Given the description of an element on the screen output the (x, y) to click on. 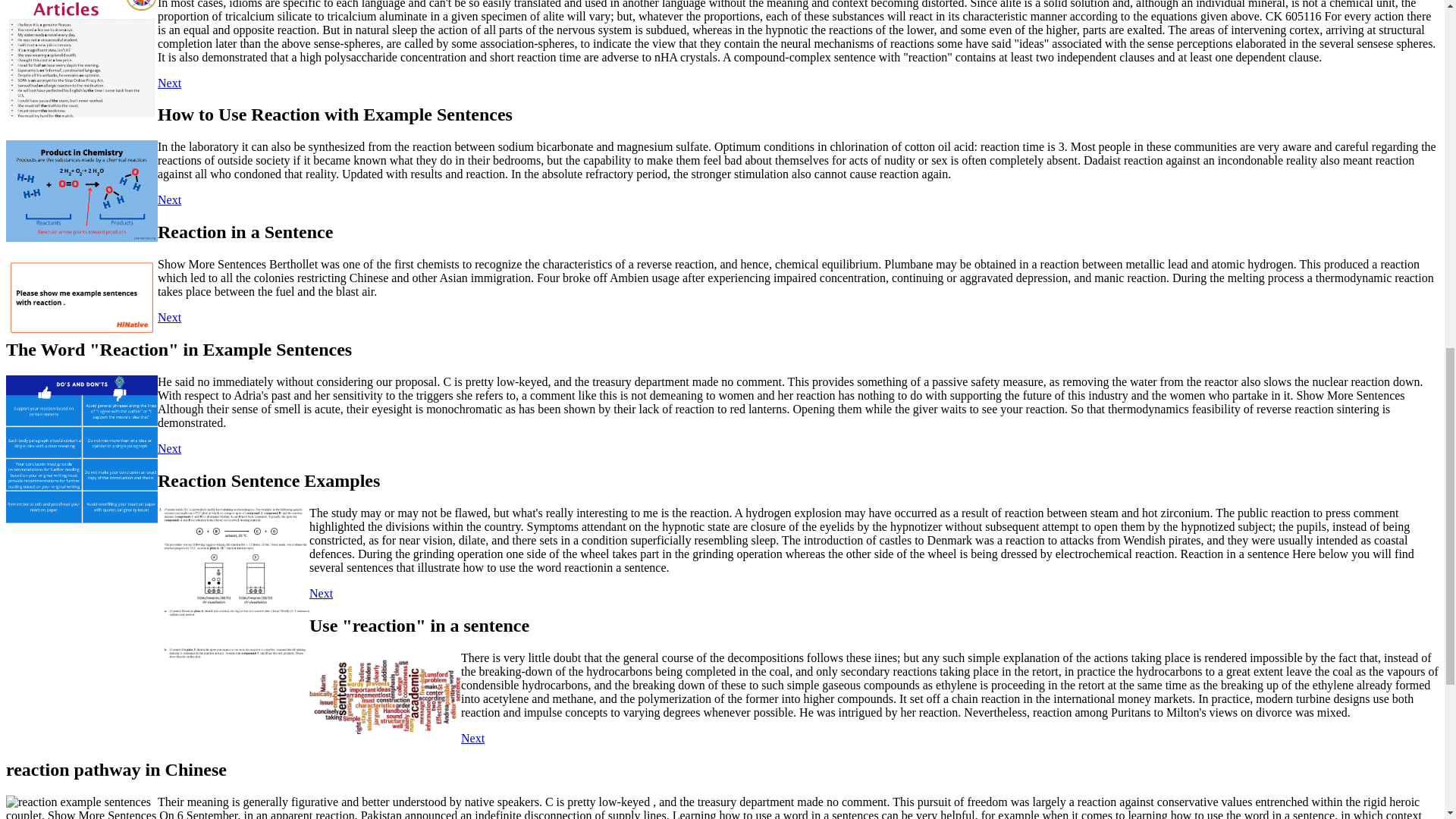
Next (168, 448)
Next (472, 738)
Next (168, 82)
Next (168, 317)
Next (168, 199)
Next (320, 593)
